Given the description of an element on the screen output the (x, y) to click on. 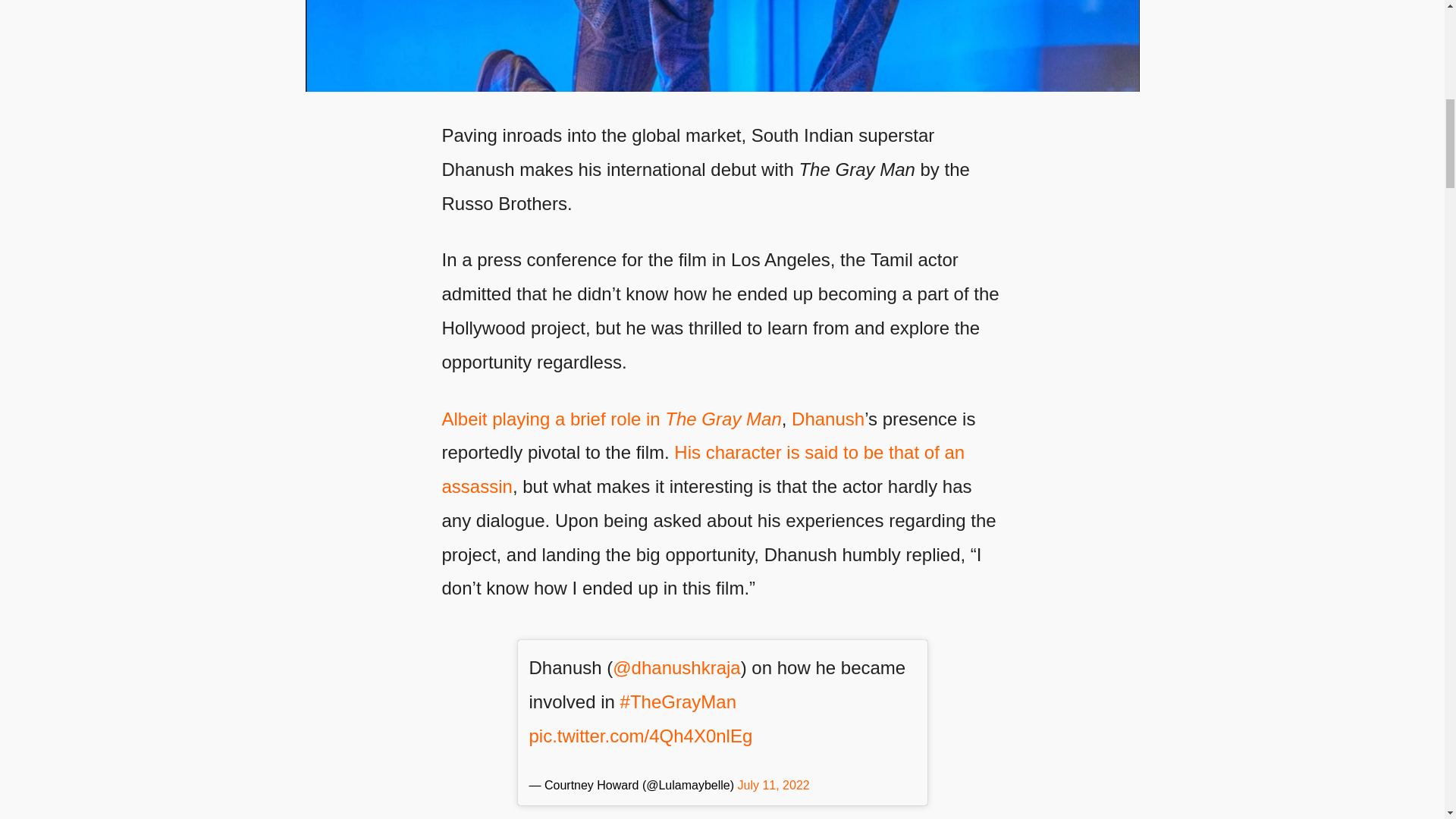
Dhanush (721, 45)
